Given the description of an element on the screen output the (x, y) to click on. 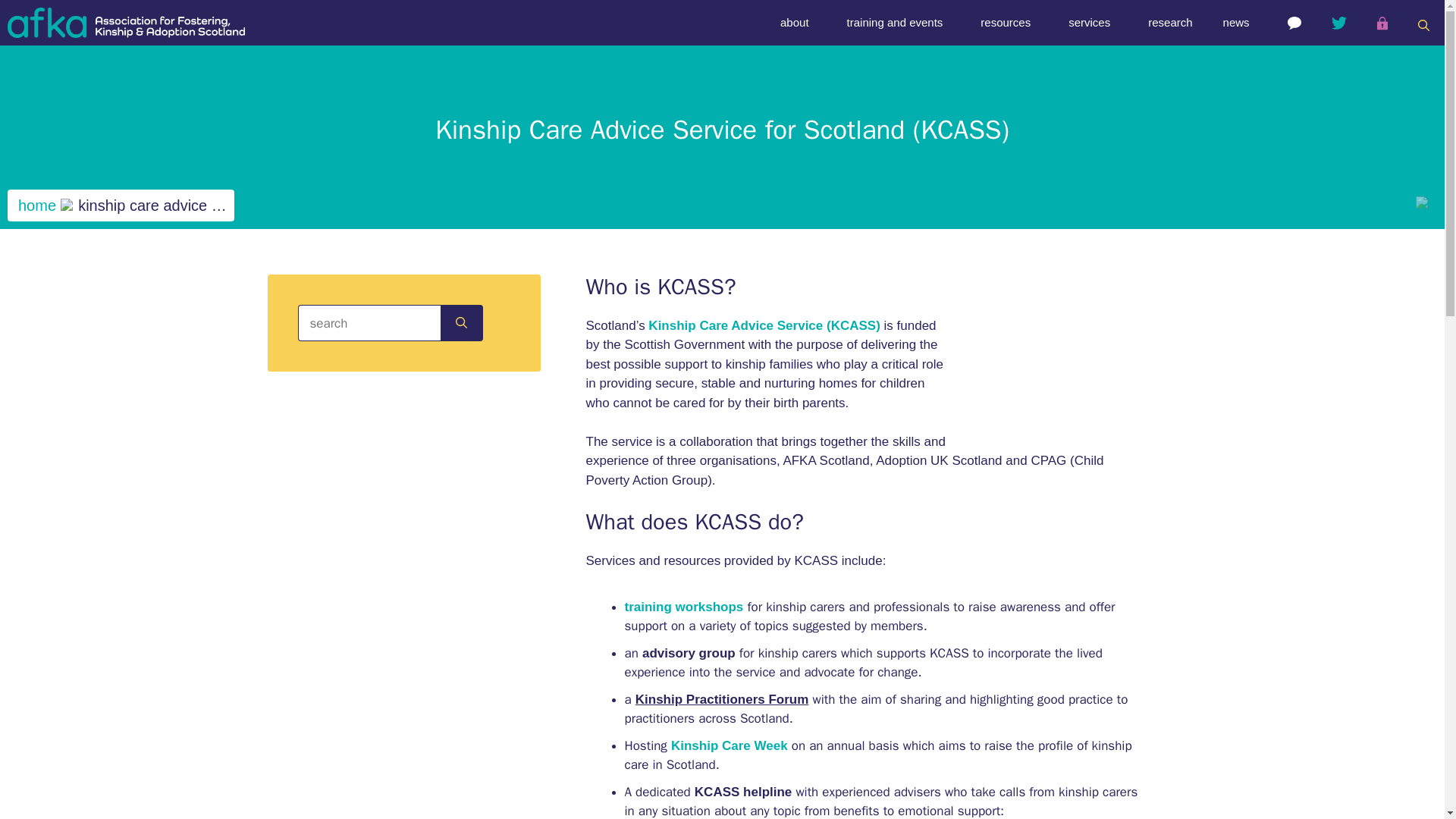
about (798, 22)
Search for: (370, 322)
get in touch with us (1294, 22)
